Given the description of an element on the screen output the (x, y) to click on. 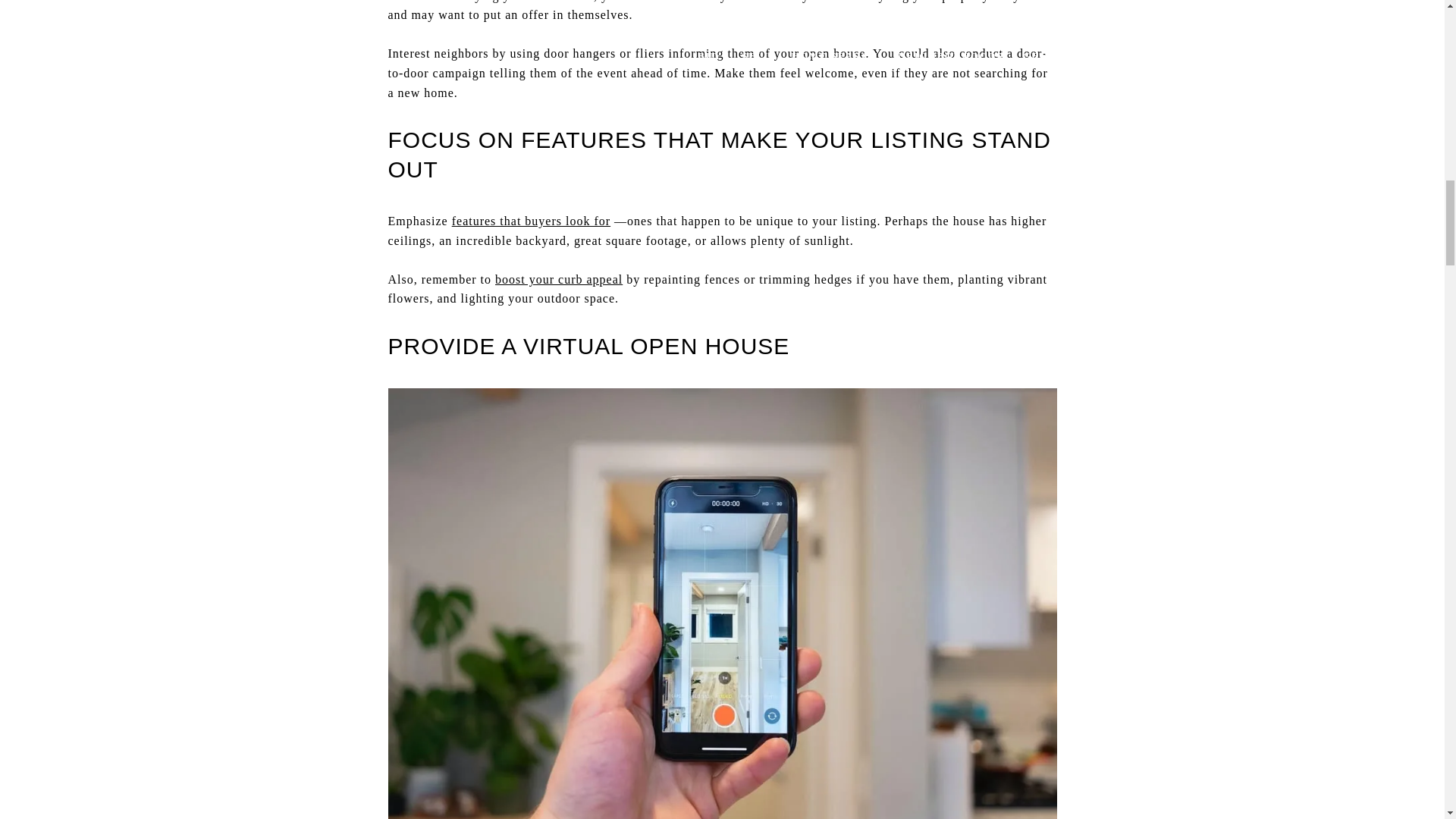
features that buyers look for (530, 220)
boost your curb appeal (559, 278)
